Given the description of an element on the screen output the (x, y) to click on. 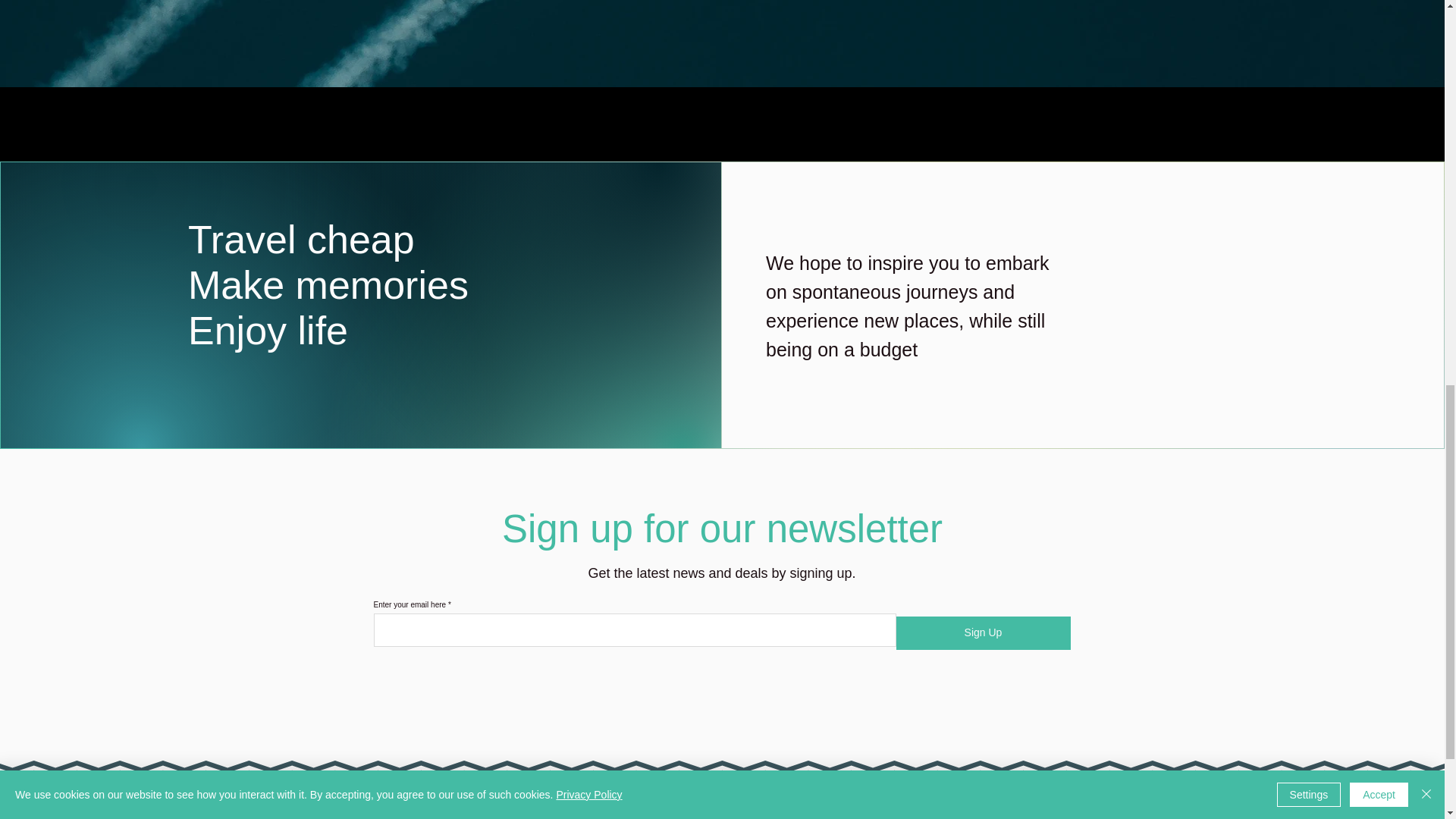
Sign Up (983, 633)
